Given the description of an element on the screen output the (x, y) to click on. 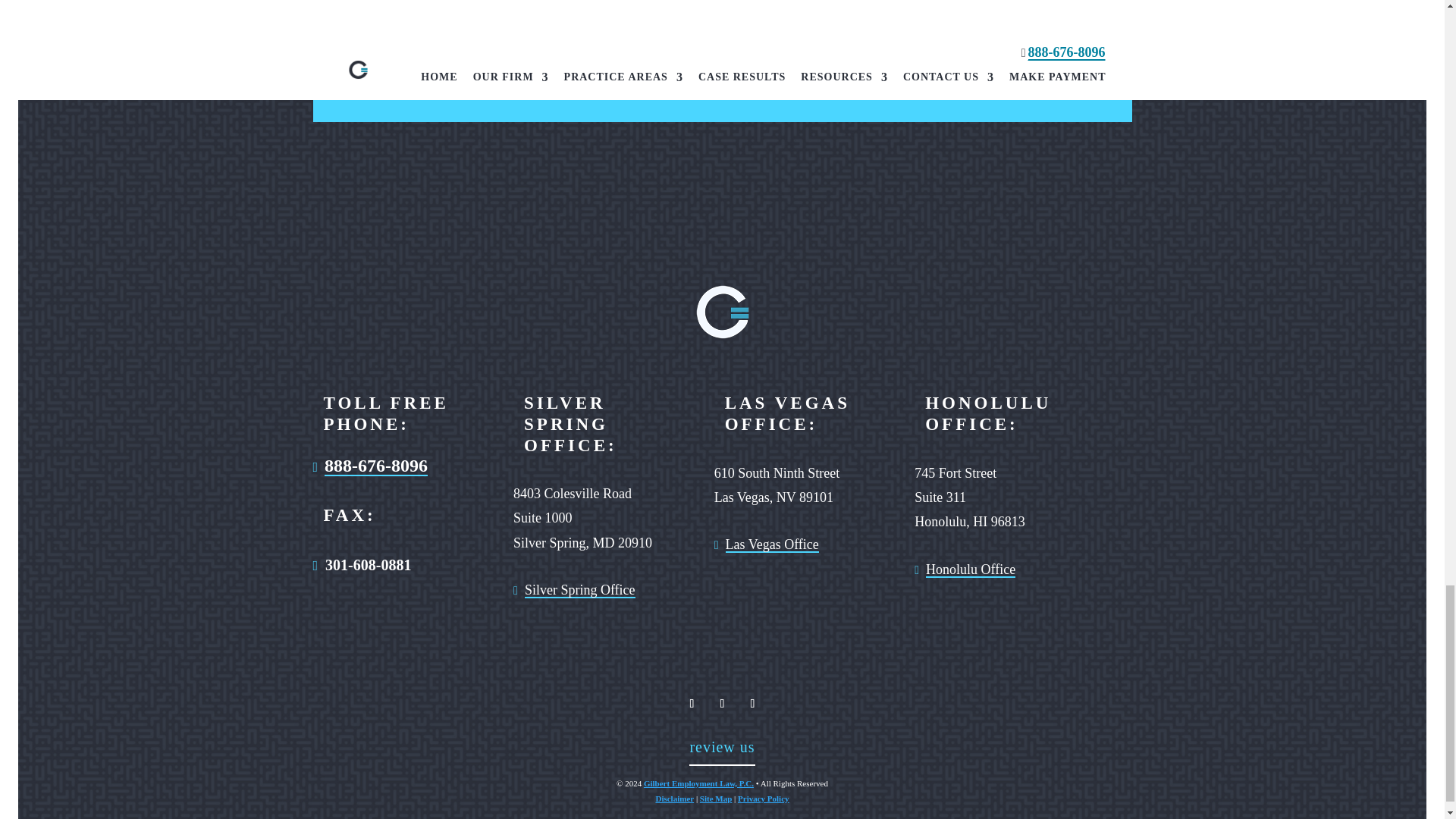
Follow on X (721, 703)
Follow on Facebook (691, 703)
Follow on LinkedIn (751, 703)
